Given the description of an element on the screen output the (x, y) to click on. 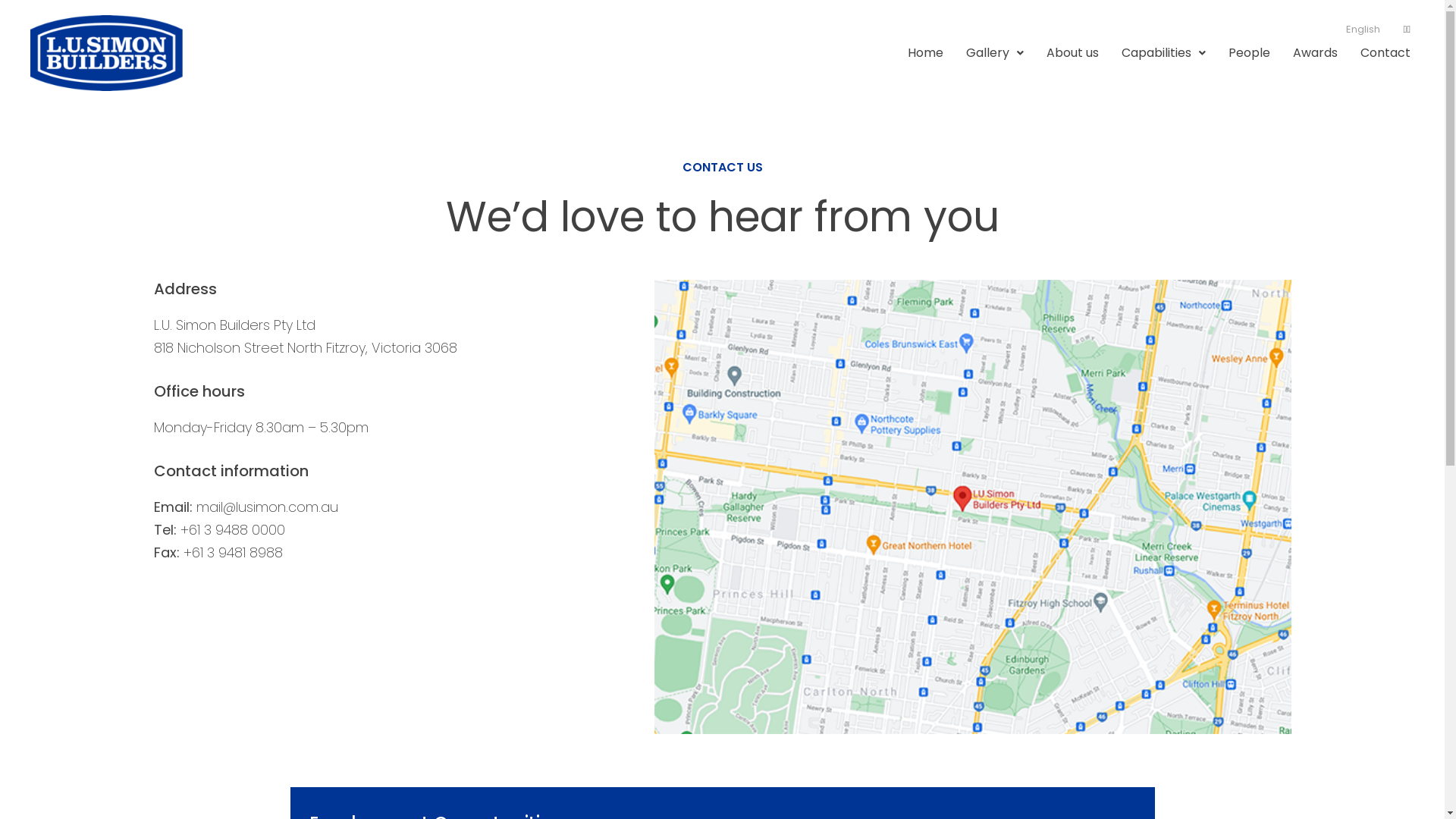
Awards Element type: text (1315, 52)
About us Element type: text (1072, 52)
Contact Element type: text (1385, 52)
People Element type: text (1249, 52)
Capabilities Element type: text (1163, 52)
Home Element type: text (925, 52)
Gallery Element type: text (994, 52)
